Given the description of an element on the screen output the (x, y) to click on. 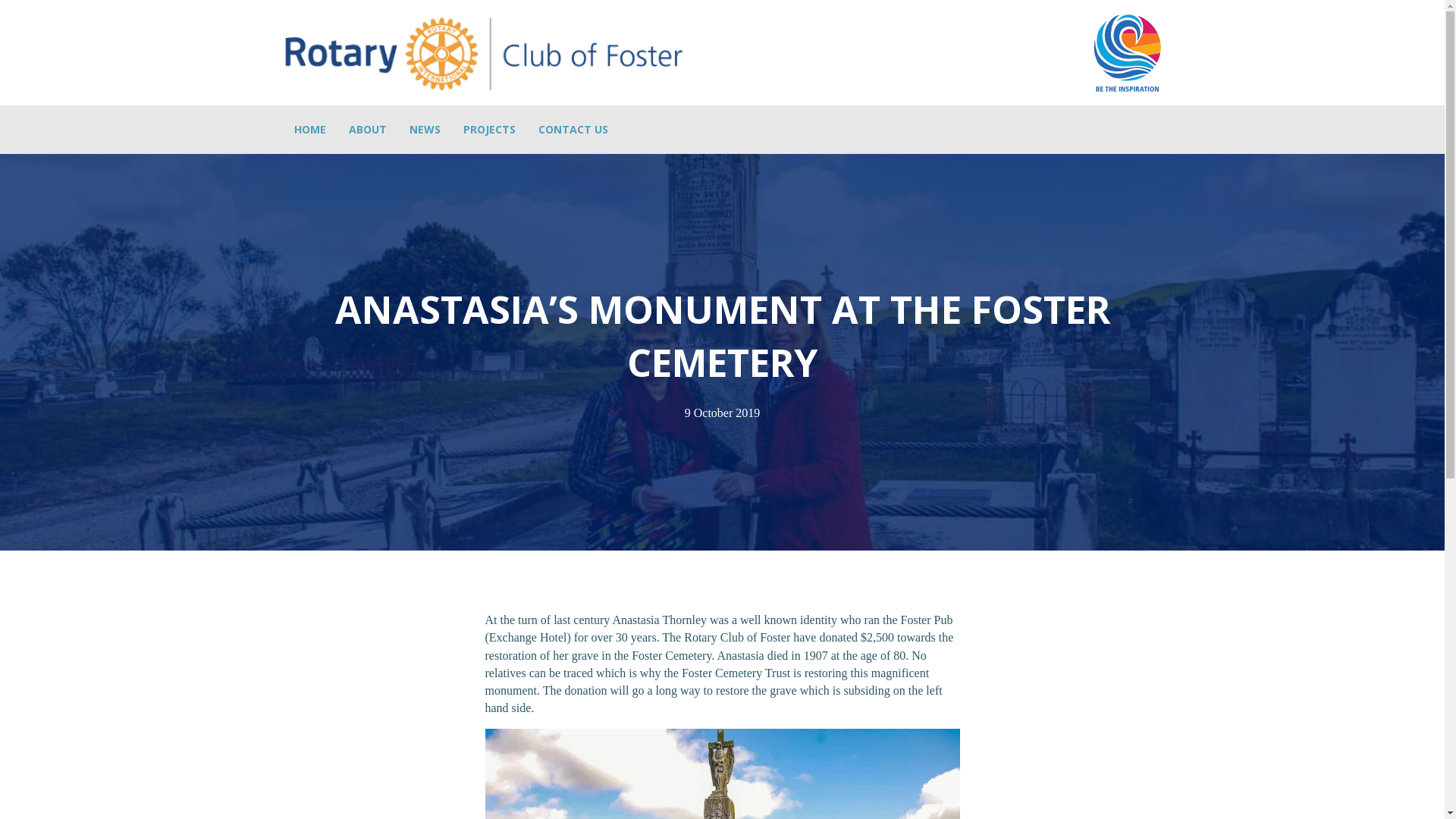
HOME Element type: text (309, 129)
NEWS Element type: text (424, 129)
Foster Rotary logo Element type: hover (483, 52)
ABOUT Element type: text (366, 129)
CONTACT US Element type: text (572, 129)
PROJECTS Element type: text (489, 129)
2019 theme logo Element type: hover (1125, 52)
